Given the description of an element on the screen output the (x, y) to click on. 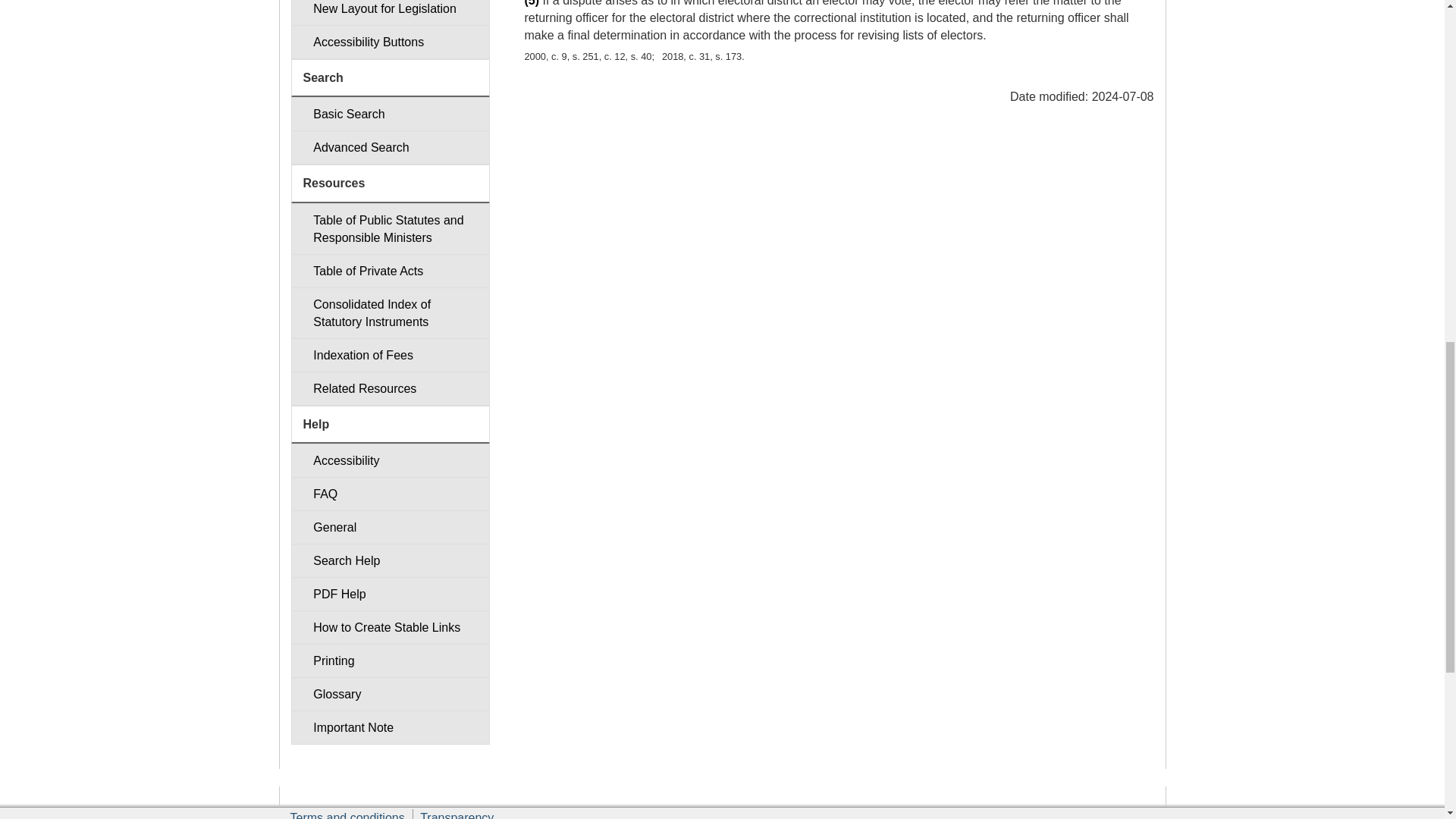
Table of Public Statutes and Responsible Ministers (390, 228)
General Help (390, 527)
Consolidated Index of Statutory Instruments (390, 313)
Related Resources (390, 388)
Accessibility Help (390, 460)
Indexation of Fees (390, 355)
Accessibility Buttons (390, 41)
Table of Private Acts (390, 270)
New Layout for Legislation (390, 12)
Basic Search (390, 114)
Frequently Asked Questions (390, 493)
Advanced Search - Justice Laws Website (390, 147)
Printing Help (390, 660)
Search - Justice Laws Website (390, 114)
Advanced Search (390, 147)
